Given the description of an element on the screen output the (x, y) to click on. 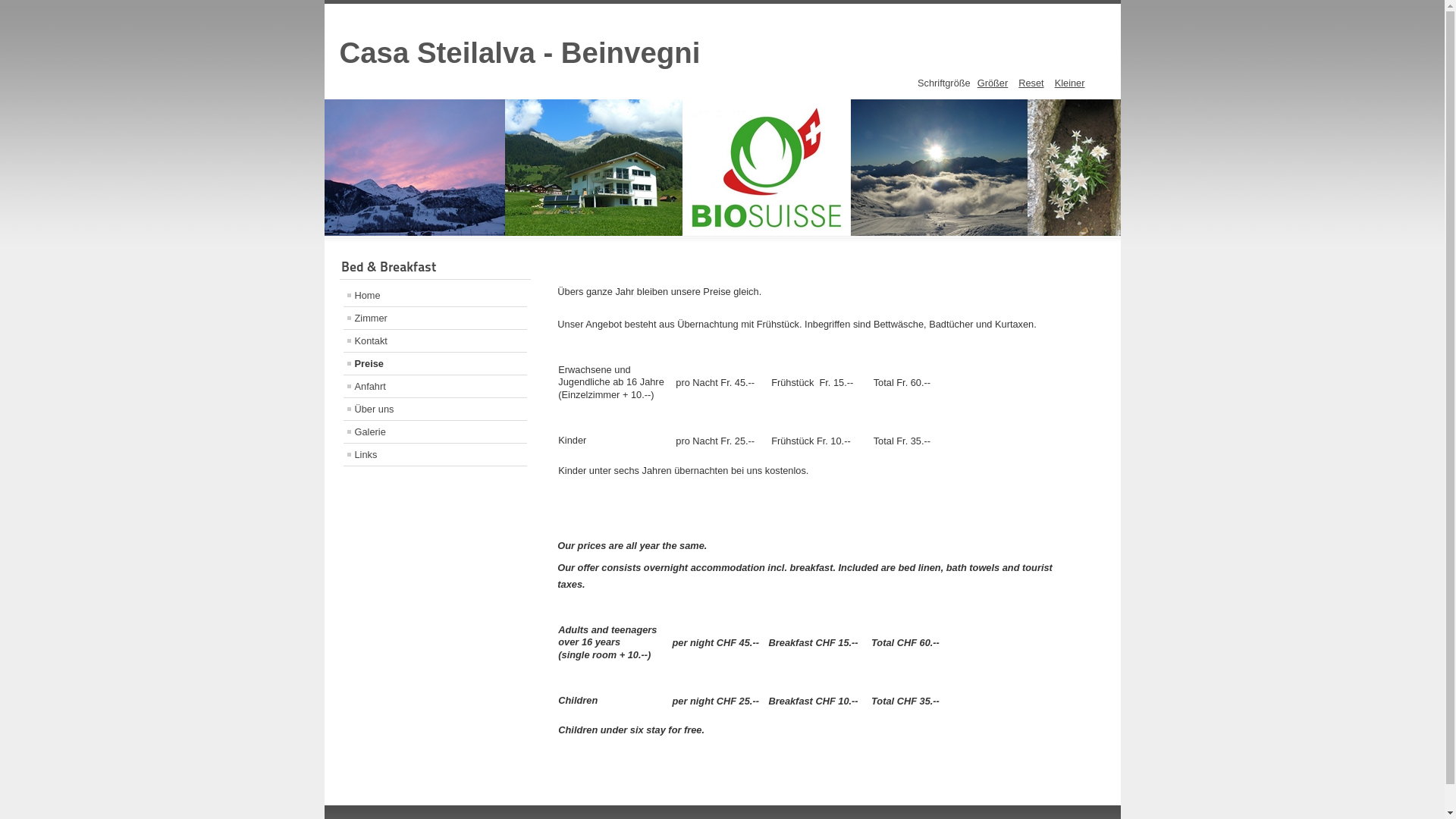
Galerie Element type: text (434, 431)
Reset Element type: text (1030, 82)
Preise Element type: text (434, 363)
Home Element type: text (434, 295)
Zimmer Element type: text (434, 318)
Kontakt Element type: text (434, 340)
Links Element type: text (434, 454)
Anfahrt Element type: text (434, 386)
Kleiner Element type: text (1069, 82)
